Given the description of an element on the screen output the (x, y) to click on. 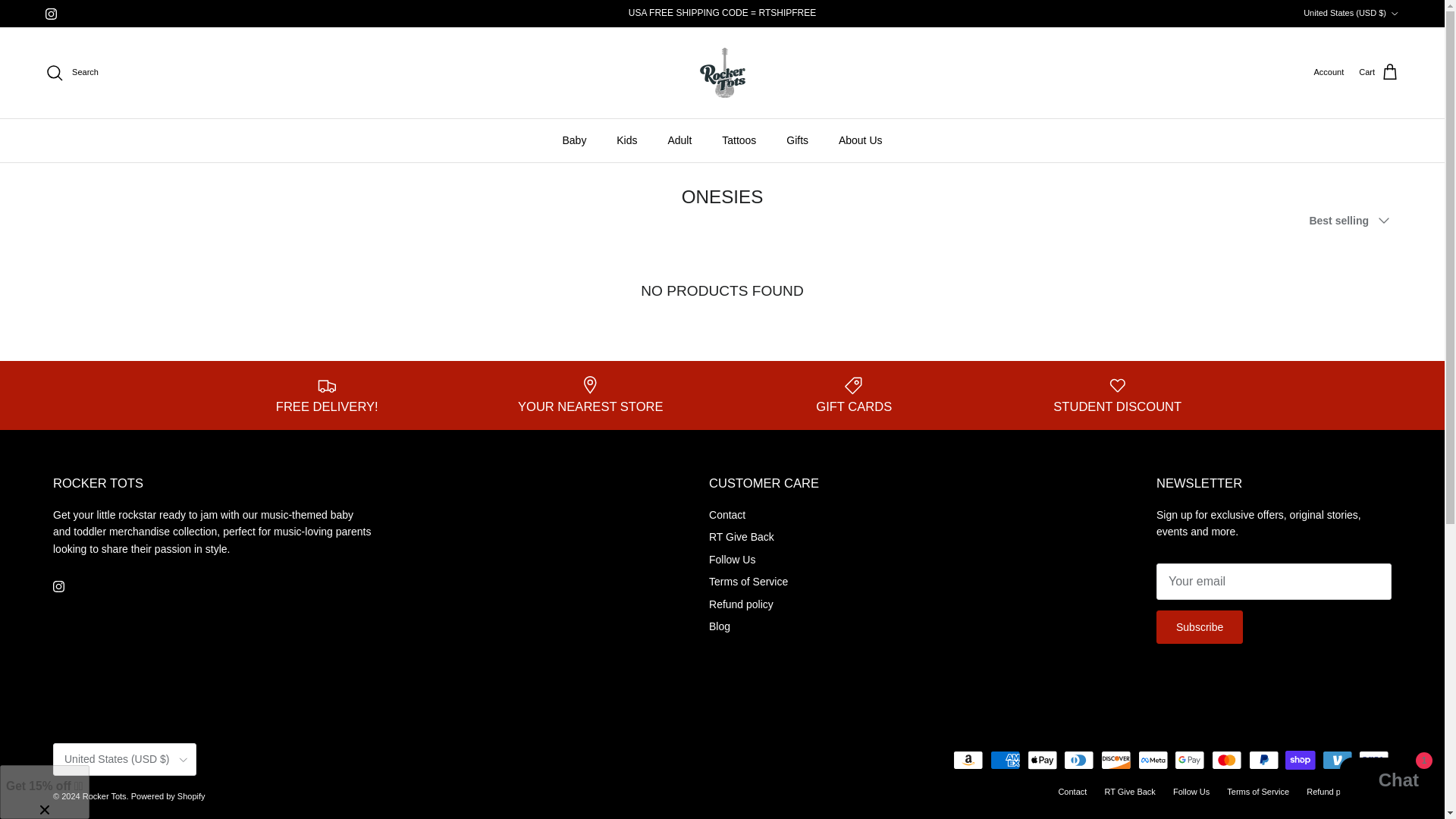
Rocker Tots on Instagram (50, 12)
Cart (1378, 72)
Diners Club (1078, 760)
Adult (678, 140)
Instagram (50, 12)
Amazon (967, 760)
Google Pay (1189, 760)
About Us (860, 140)
Meta Pay (1152, 760)
Baby (573, 140)
Rocker Tots (721, 72)
Apple Pay (1042, 760)
Shopify online store chat (1383, 781)
Tattoos (738, 140)
Mastercard (1226, 760)
